Given the description of an element on the screen output the (x, y) to click on. 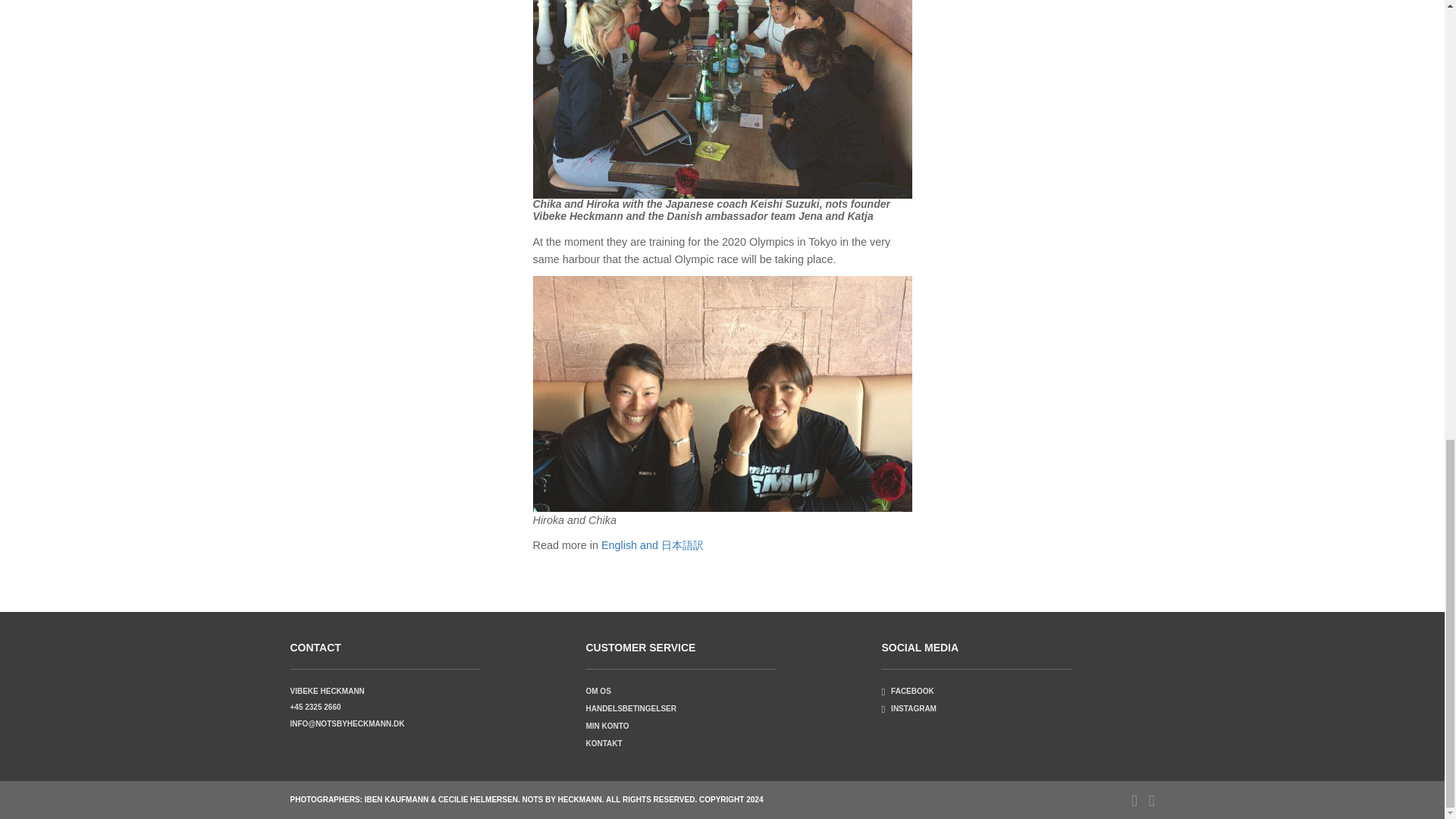
INSTAGRAM (908, 708)
KONTAKT (603, 743)
FACEBOOK (906, 691)
HANDELSBETINGELSER (630, 708)
OM OS (597, 691)
MIN KONTO (606, 725)
